Given the description of an element on the screen output the (x, y) to click on. 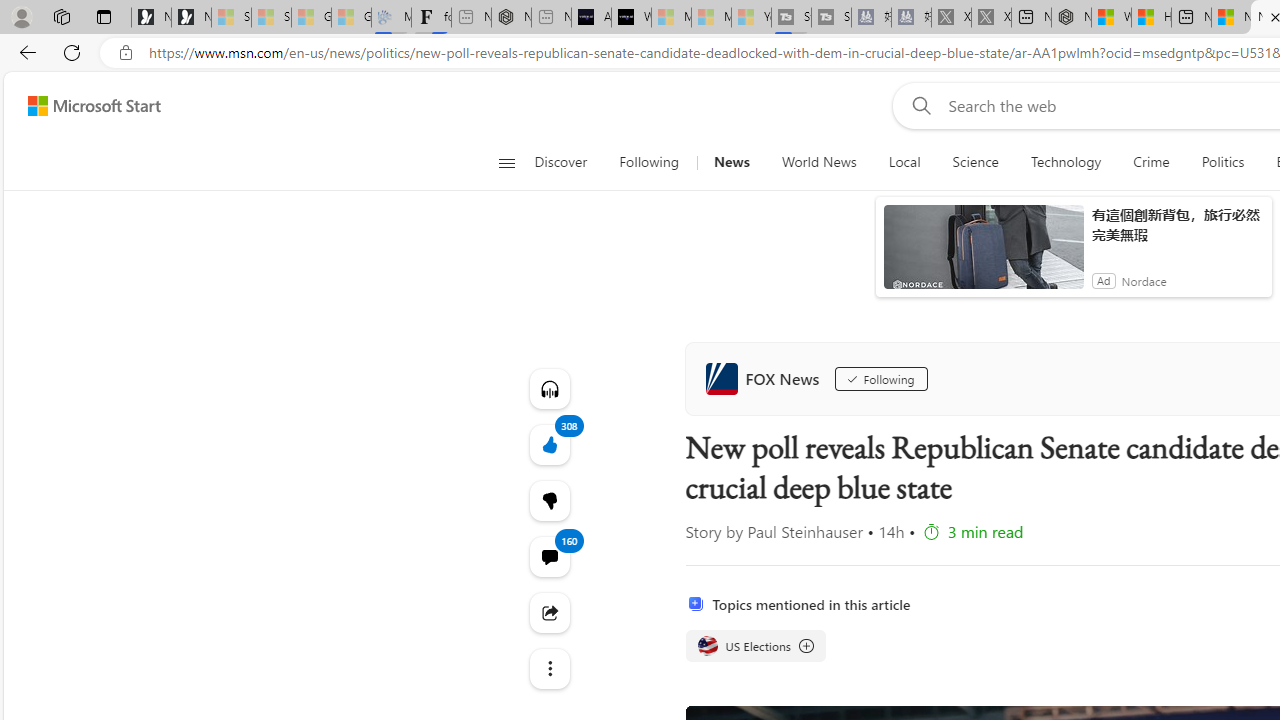
US Elections US Elections US Elections (754, 645)
FOX News (766, 378)
View comments 160 Comment (548, 556)
Politics (1222, 162)
Share this story (548, 612)
Listen to this article (548, 388)
Listen to this article (548, 388)
Technology (1066, 162)
Class: button-glyph (505, 162)
